Given the description of an element on the screen output the (x, y) to click on. 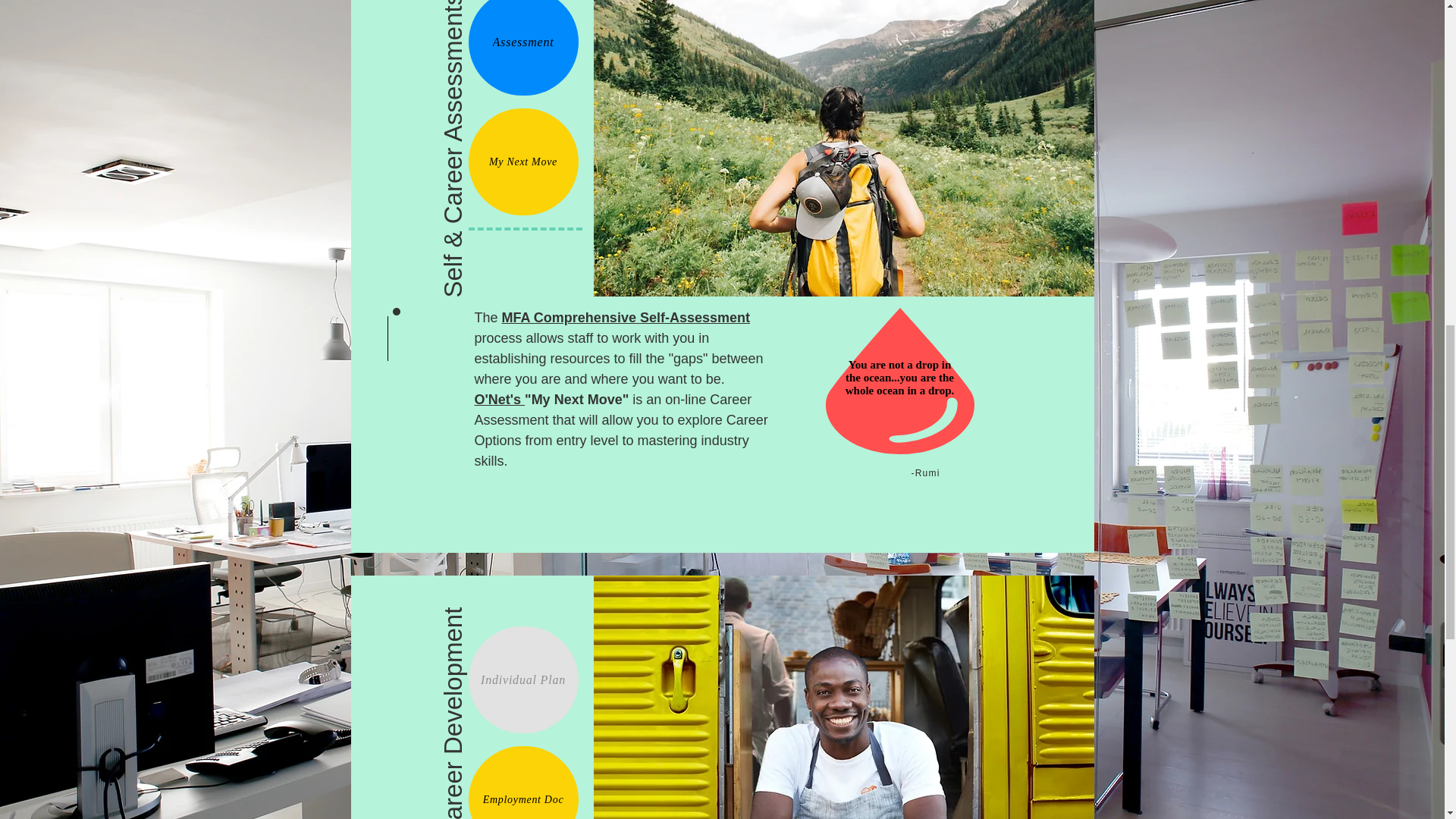
Individual Plan (523, 679)
Employment Doc (523, 782)
O'Net's (499, 399)
My Next Move (523, 161)
Assessment (523, 47)
